Given the description of an element on the screen output the (x, y) to click on. 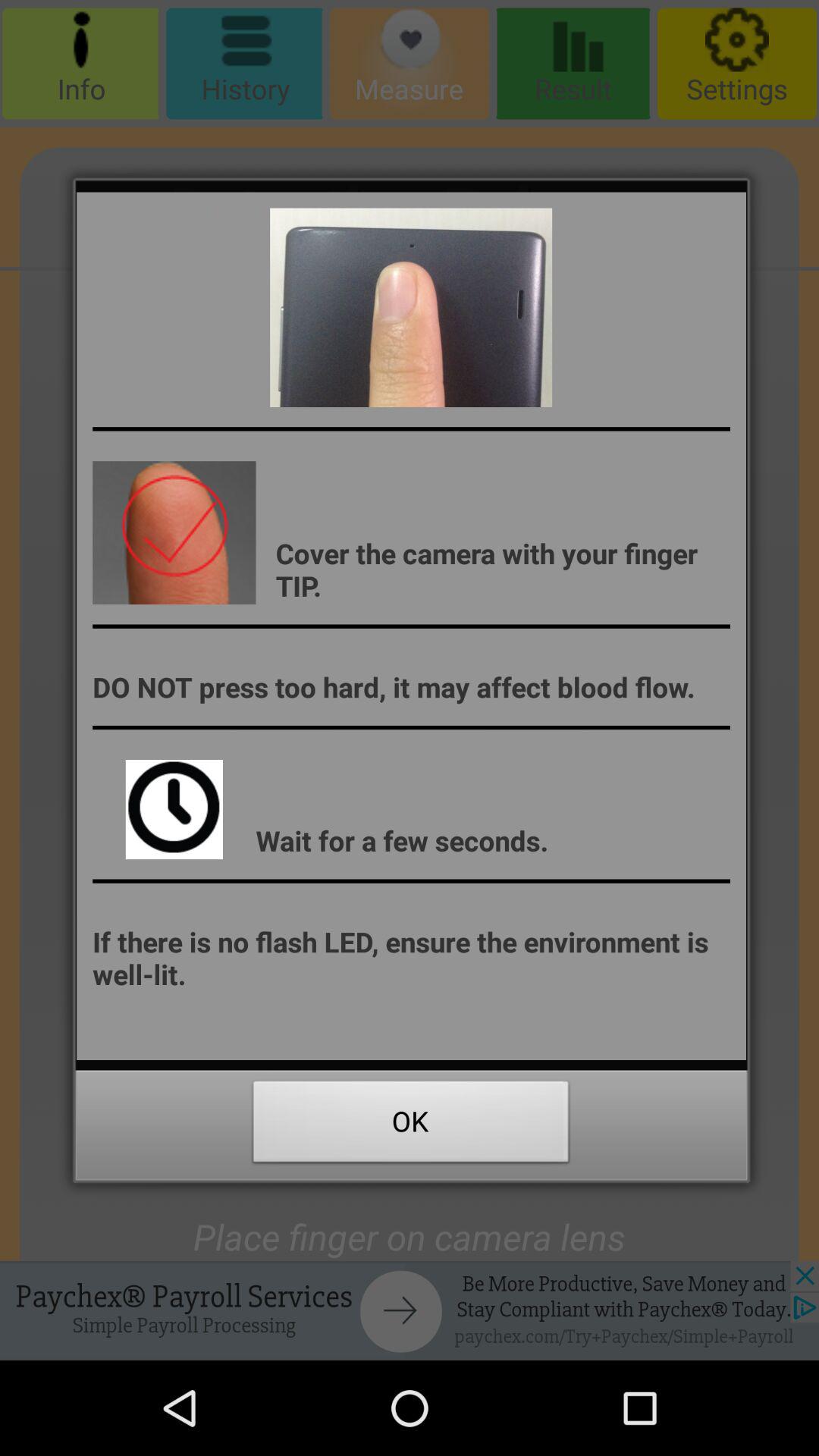
jump until the ok icon (410, 1125)
